Given the description of an element on the screen output the (x, y) to click on. 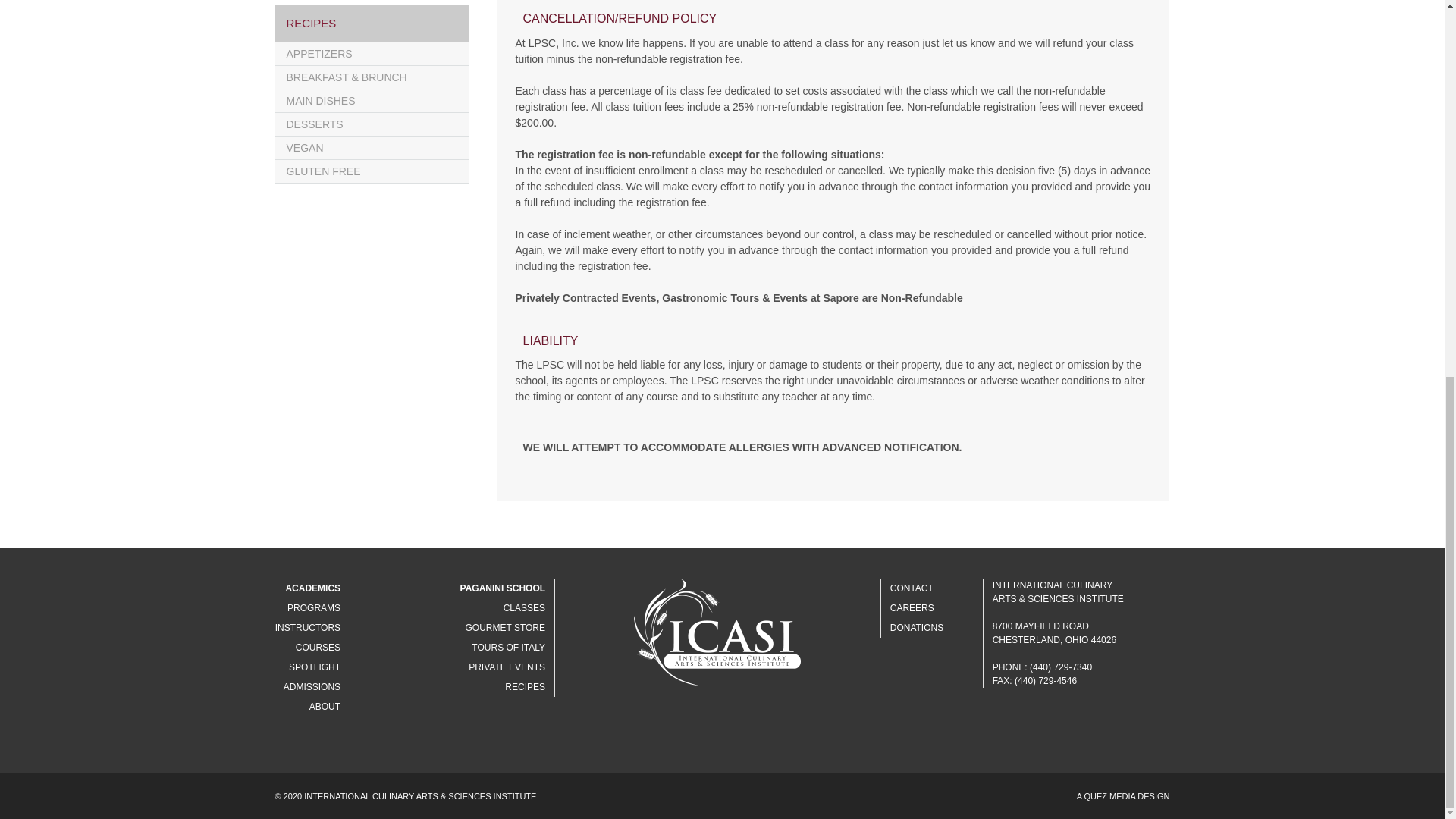
Contact (911, 588)
Recipes (524, 686)
Instructors (307, 627)
Gourmet Store (504, 627)
Programs (313, 607)
Privage Events (506, 666)
Spotlight (314, 666)
Courses (317, 647)
Tours of Italy (507, 647)
Classes (523, 607)
Paganini School (502, 588)
About (324, 706)
Admissions (311, 686)
Careers (911, 607)
